Given the description of an element on the screen output the (x, y) to click on. 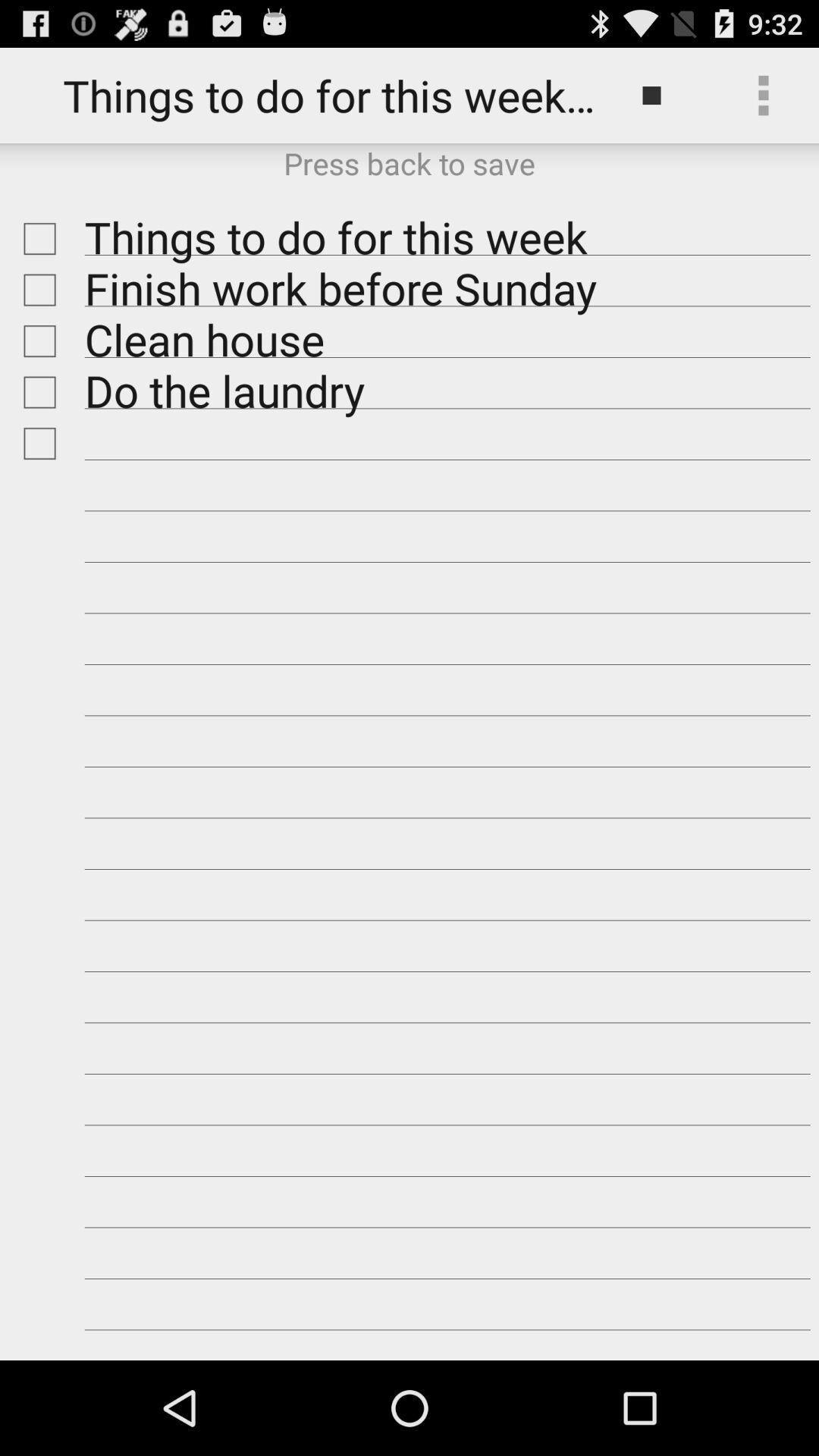
toggle select option (35, 238)
